Given the description of an element on the screen output the (x, y) to click on. 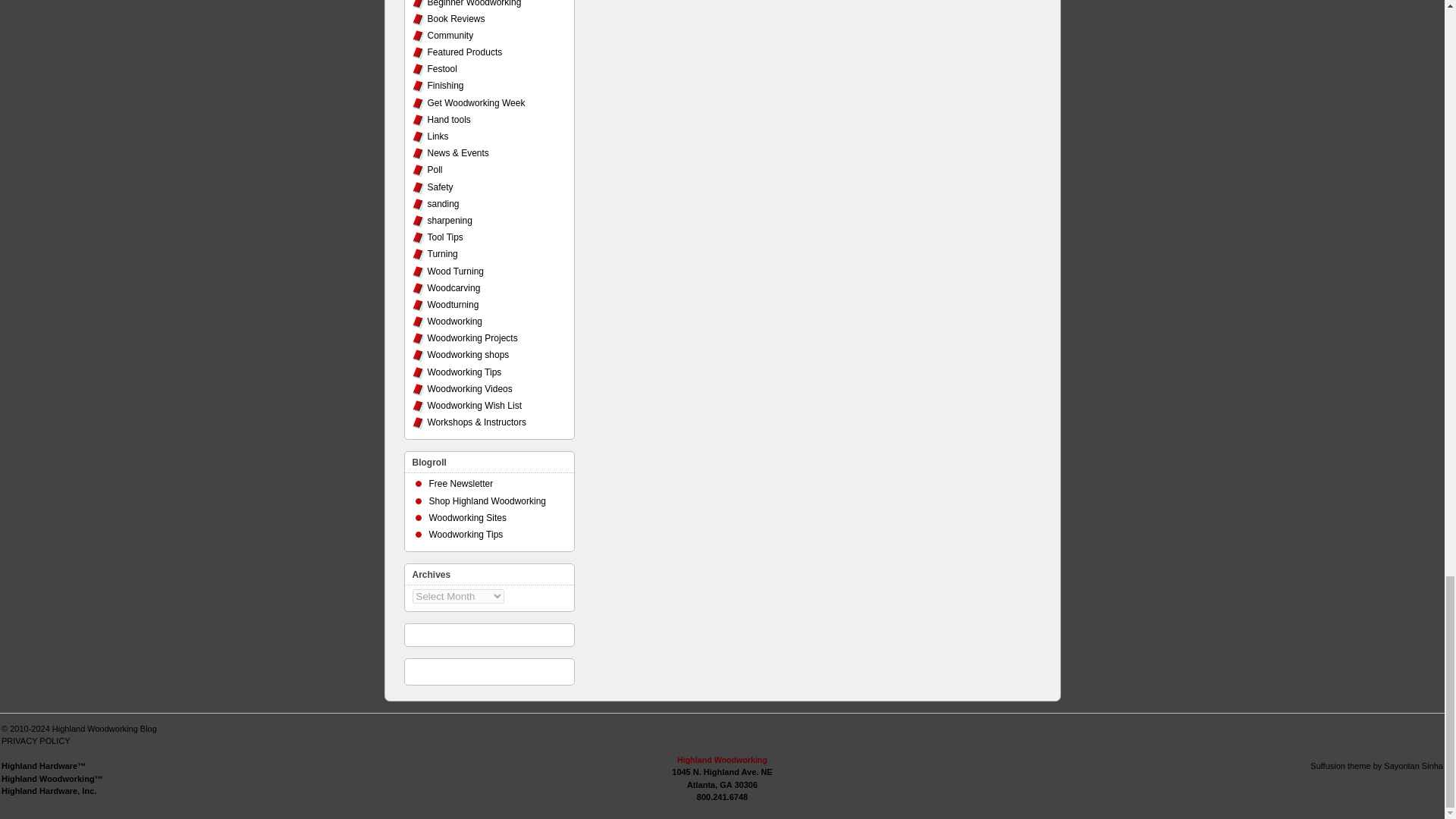
Featured Products (465, 51)
Community (451, 35)
Beginner Woodworking (474, 3)
Festool (442, 68)
Book Reviews (456, 18)
